Given the description of an element on the screen output the (x, y) to click on. 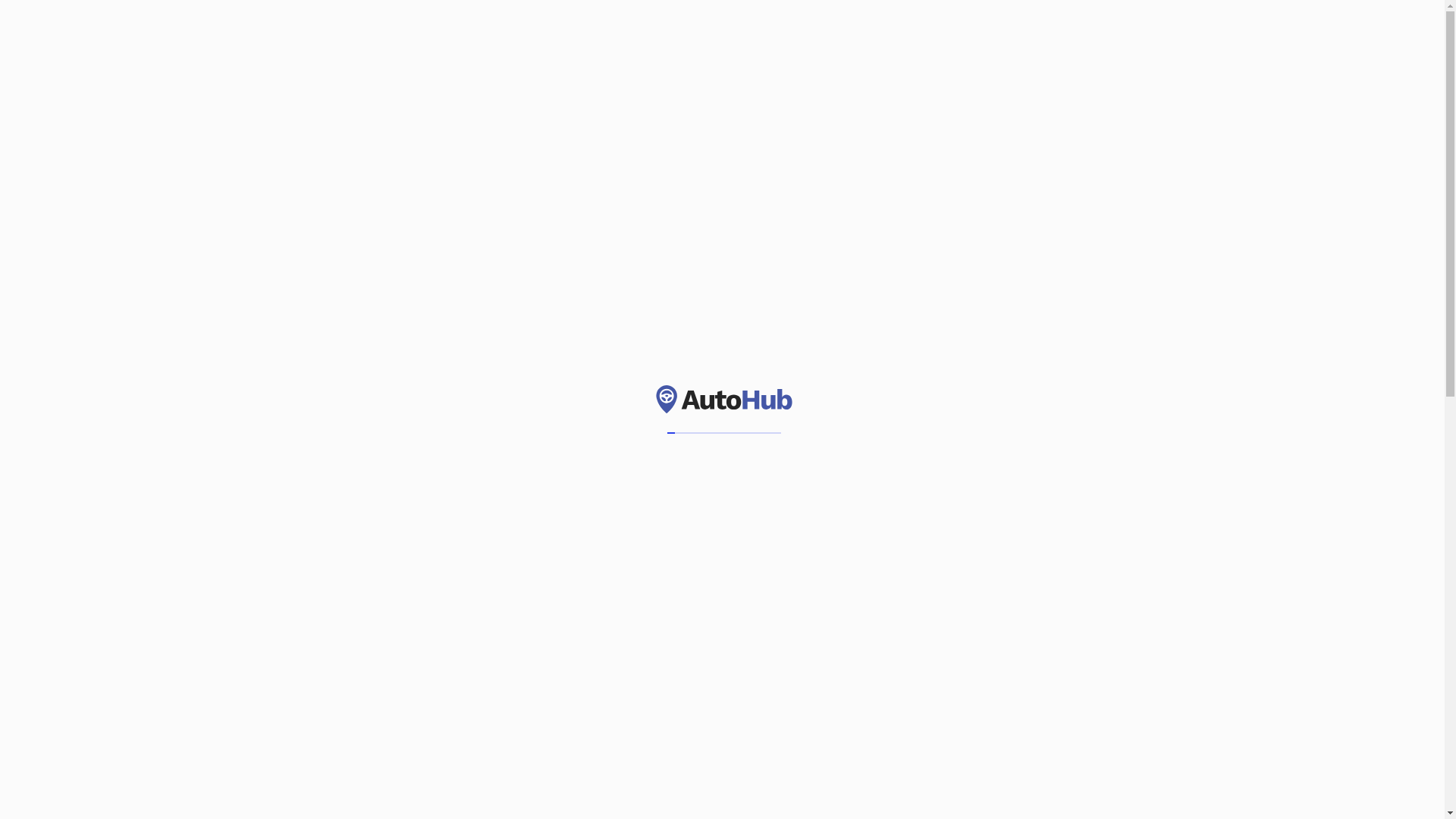
Login To Bookmark Items Element type: hover (839, 233)
Shop Element type: text (647, 31)
Reset Filters Element type: text (1019, 704)
Listings Element type: text (526, 31)
Login To Bookmark Items Element type: hover (839, 596)
Add Car Element type: text (1380, 31)
Sell Featured
Red Sedan
55,000$
2018
39,000km
Gasoline Element type: text (444, 371)
69$ Element type: text (45, 773)
Home Element type: text (462, 31)
Body Details Element type: text (1019, 655)
Blog Element type: text (694, 31)
Login To Bookmark Items Element type: hover (546, 233)
Sell
Mercedez Turbo
98,500$
2019
47,000km
Gasoline Element type: text (736, 371)
Login To Bookmark Items Element type: hover (546, 596)
Pages Element type: text (590, 31)
Car Details Element type: text (1019, 560)
Find My Location Element type: hover (1113, 304)
Autohub Element type: hover (87, 31)
Engine Details Element type: text (1019, 608)
